Given the description of an element on the screen output the (x, y) to click on. 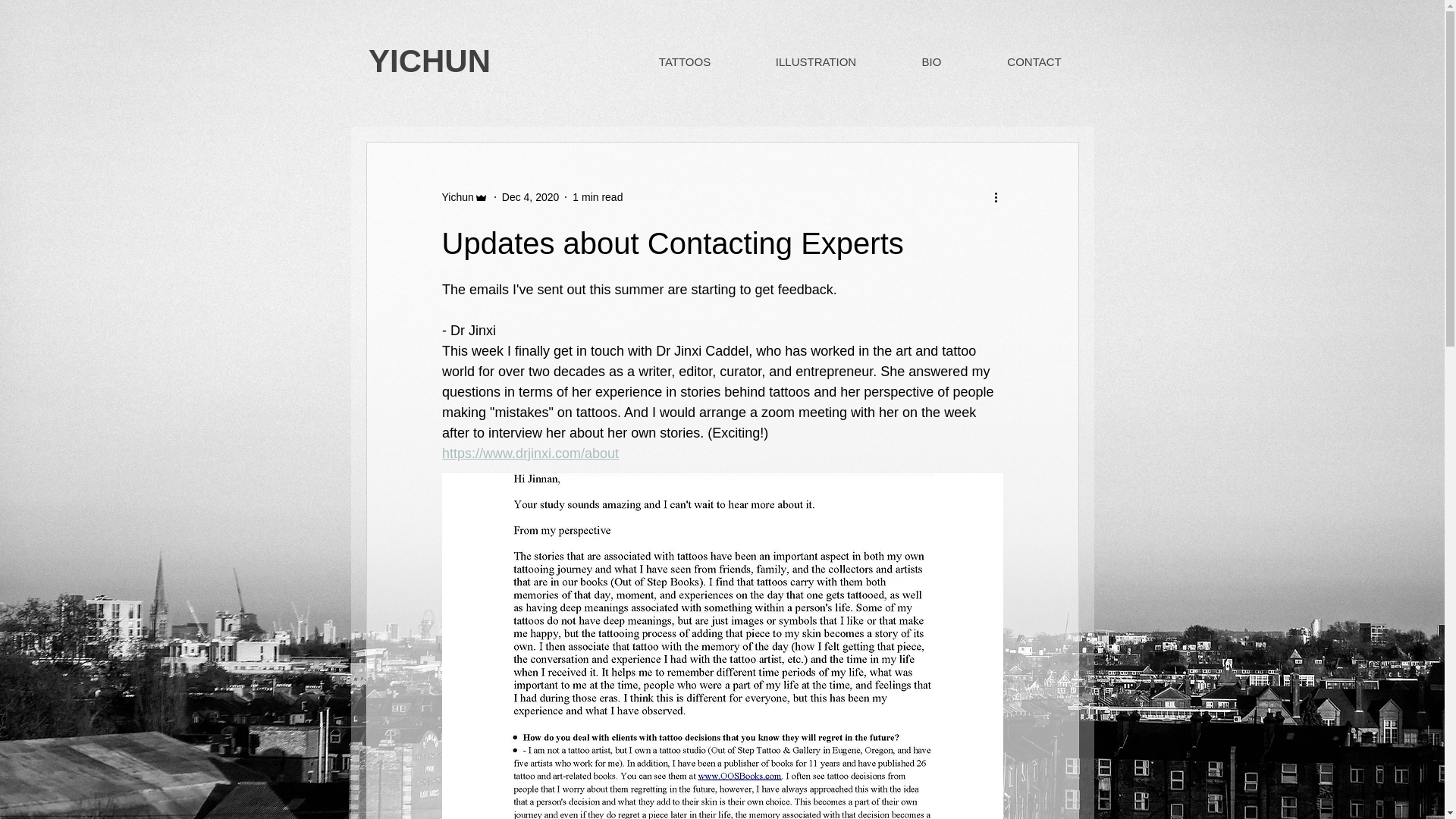
1 min read (597, 196)
Dec 4, 2020 (530, 196)
Yichun (464, 197)
ILLUSTRATION (815, 61)
Yichun (457, 197)
TATTOOS (684, 61)
CONTACT (1034, 61)
BIO (931, 61)
